Given the description of an element on the screen output the (x, y) to click on. 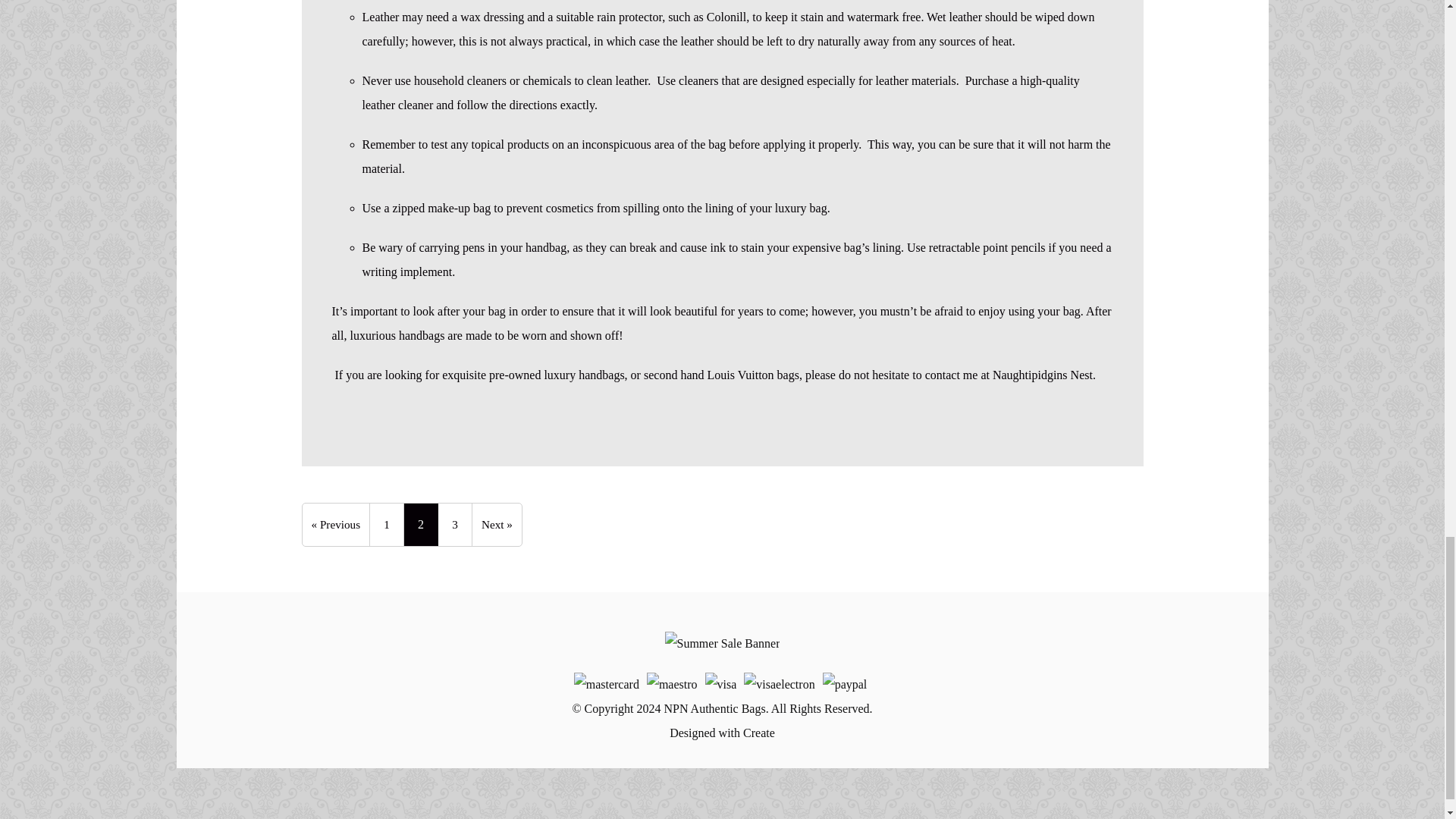
Summer Sale Banner (722, 643)
